Given the description of an element on the screen output the (x, y) to click on. 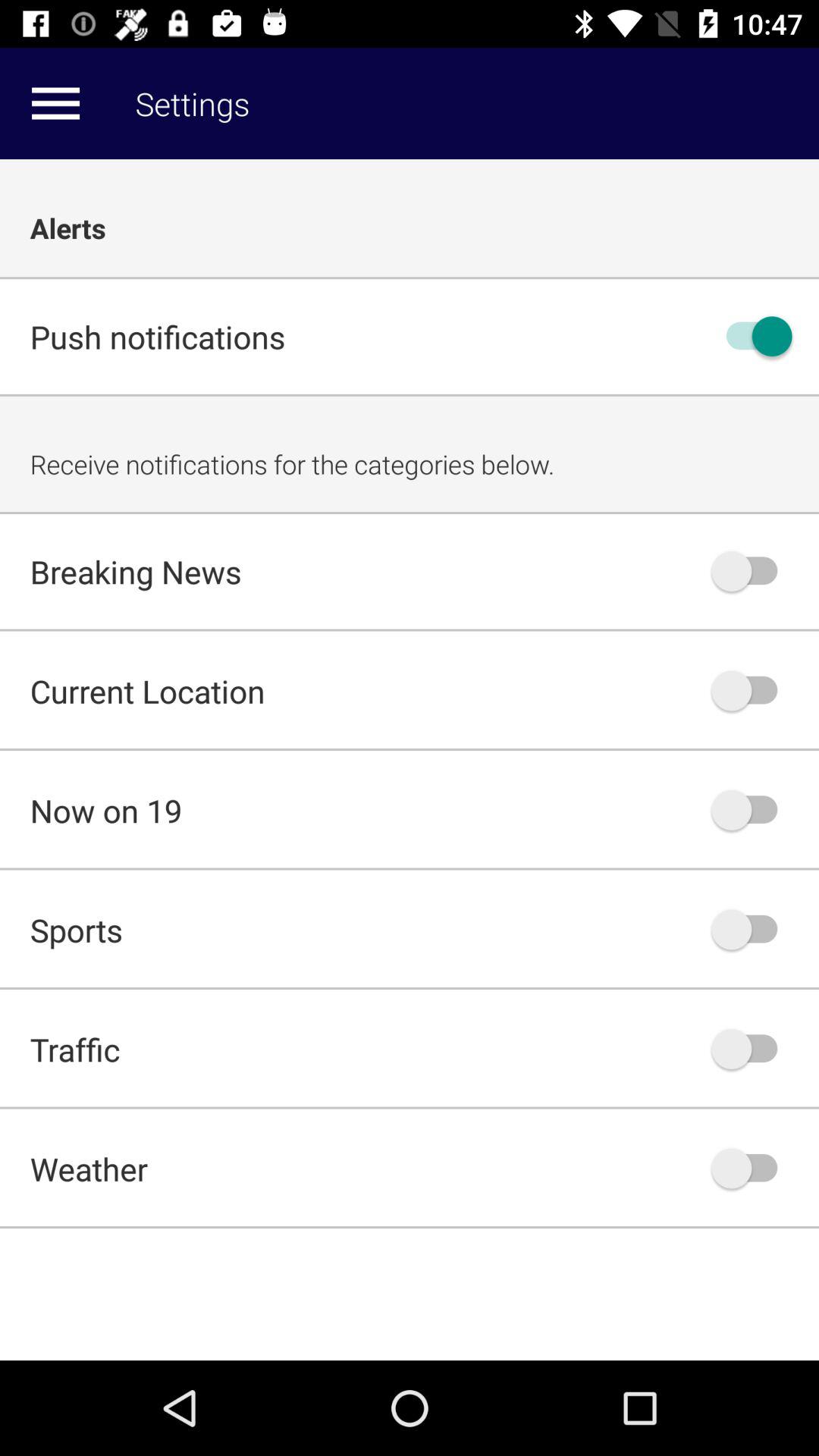
toggle weather (751, 1168)
